Given the description of an element on the screen output the (x, y) to click on. 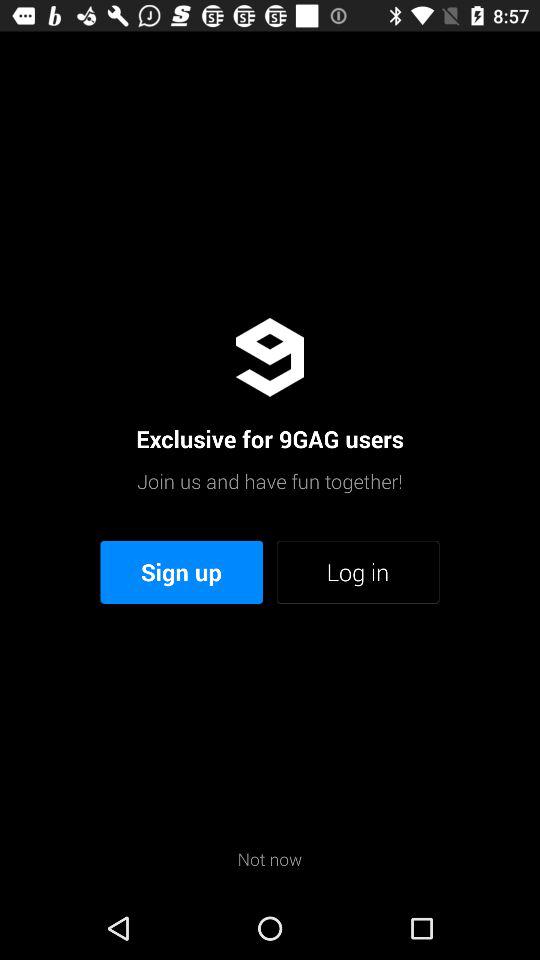
tap the sign up item (181, 571)
